Given the description of an element on the screen output the (x, y) to click on. 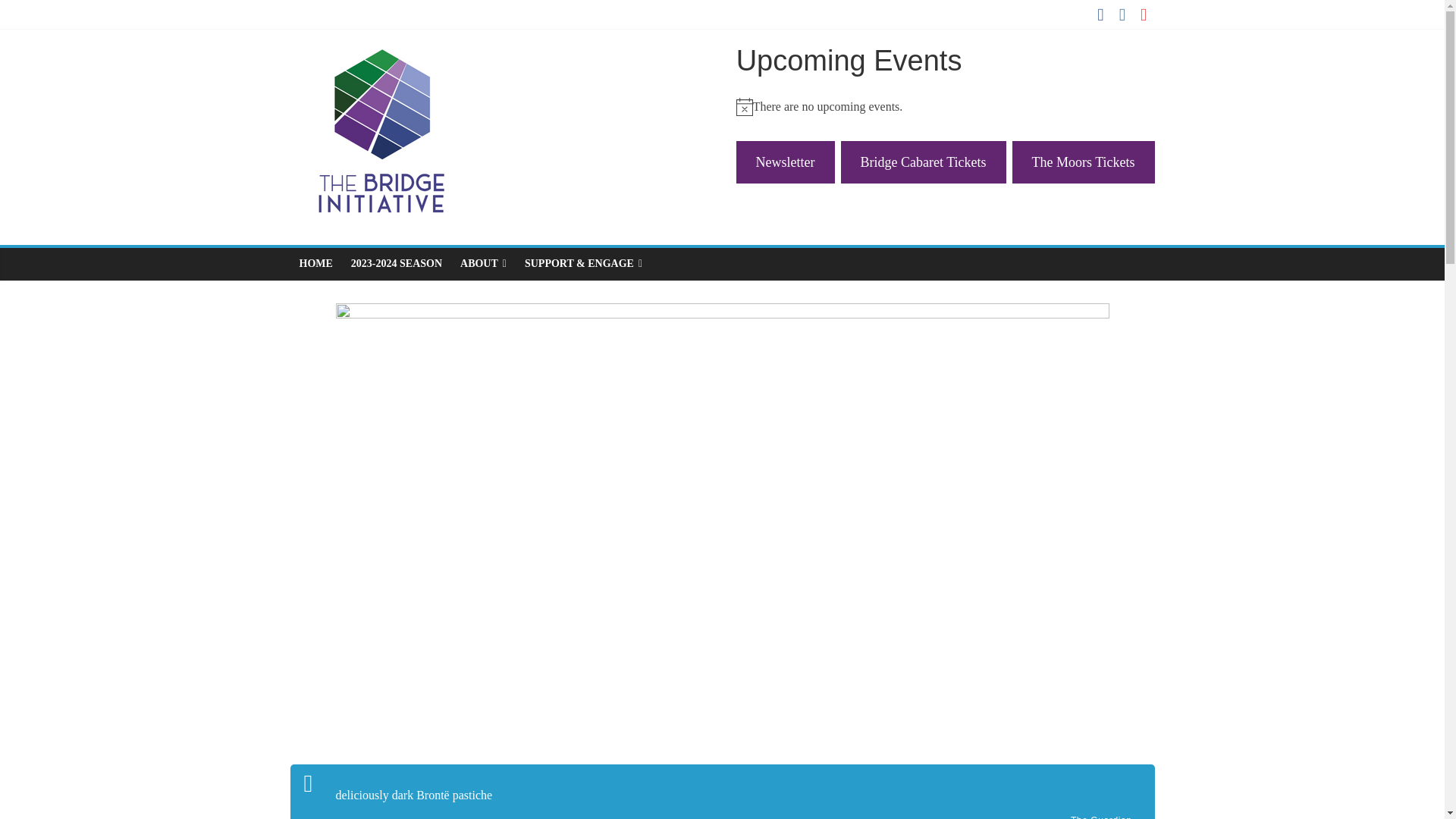
The Moors Tickets (1082, 162)
Bridge Cabaret Tickets (923, 162)
ABOUT (483, 264)
HOME (314, 264)
Newsletter (785, 162)
2023-2024 SEASON (396, 264)
